Given the description of an element on the screen output the (x, y) to click on. 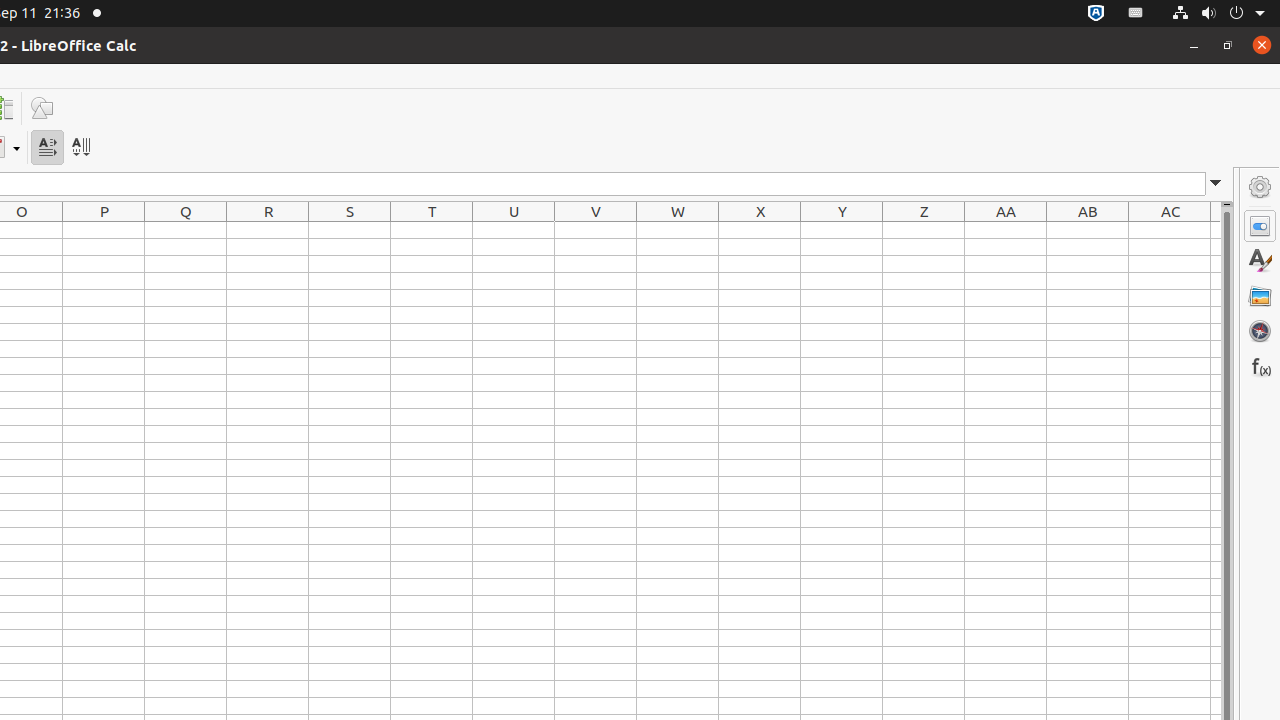
V1 Element type: table-cell (596, 230)
S1 Element type: table-cell (350, 230)
Expand Formula Bar Element type: push-button (1216, 183)
AA1 Element type: table-cell (1006, 230)
